Given the description of an element on the screen output the (x, y) to click on. 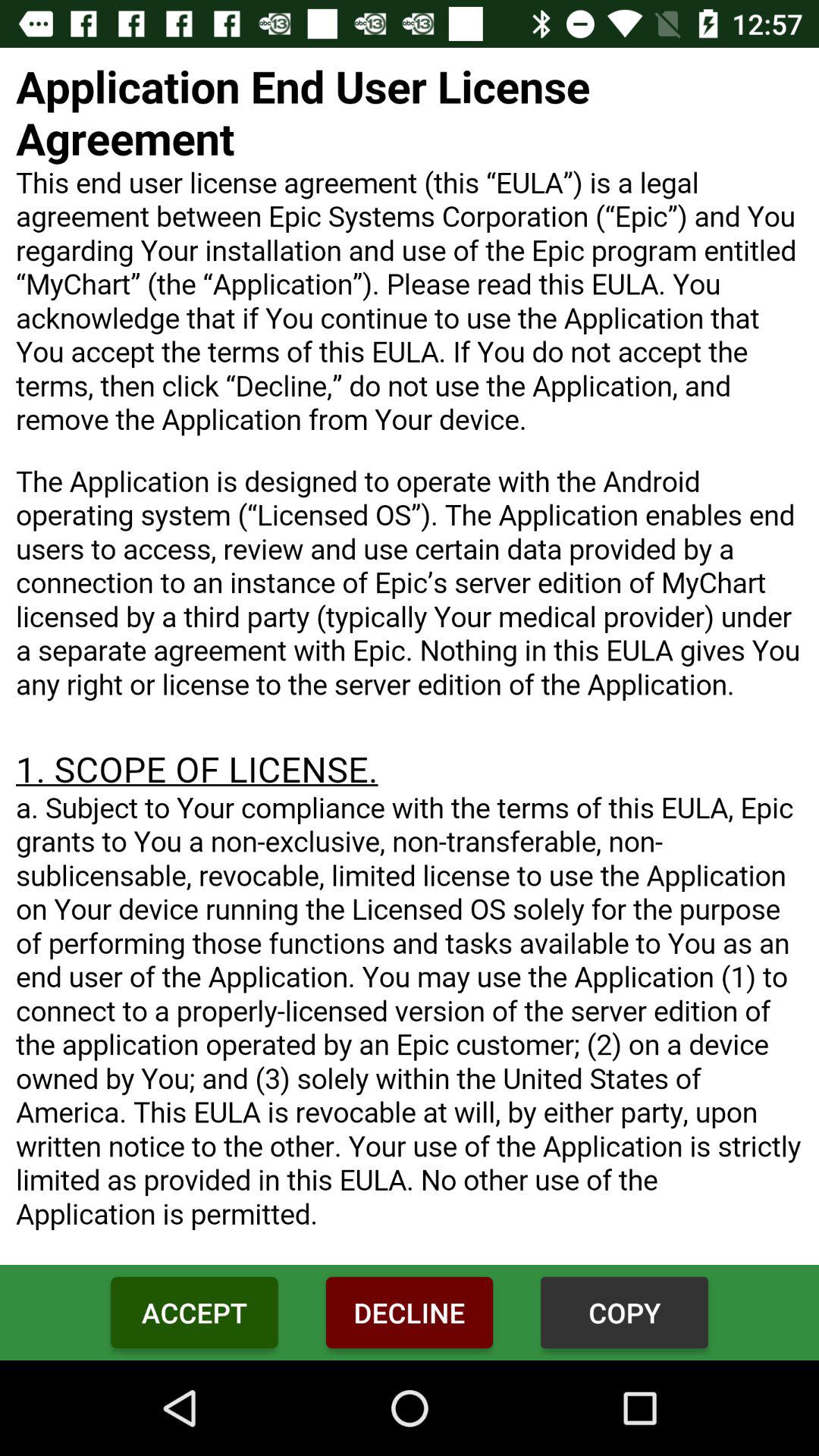
click on agreement (409, 655)
